Given the description of an element on the screen output the (x, y) to click on. 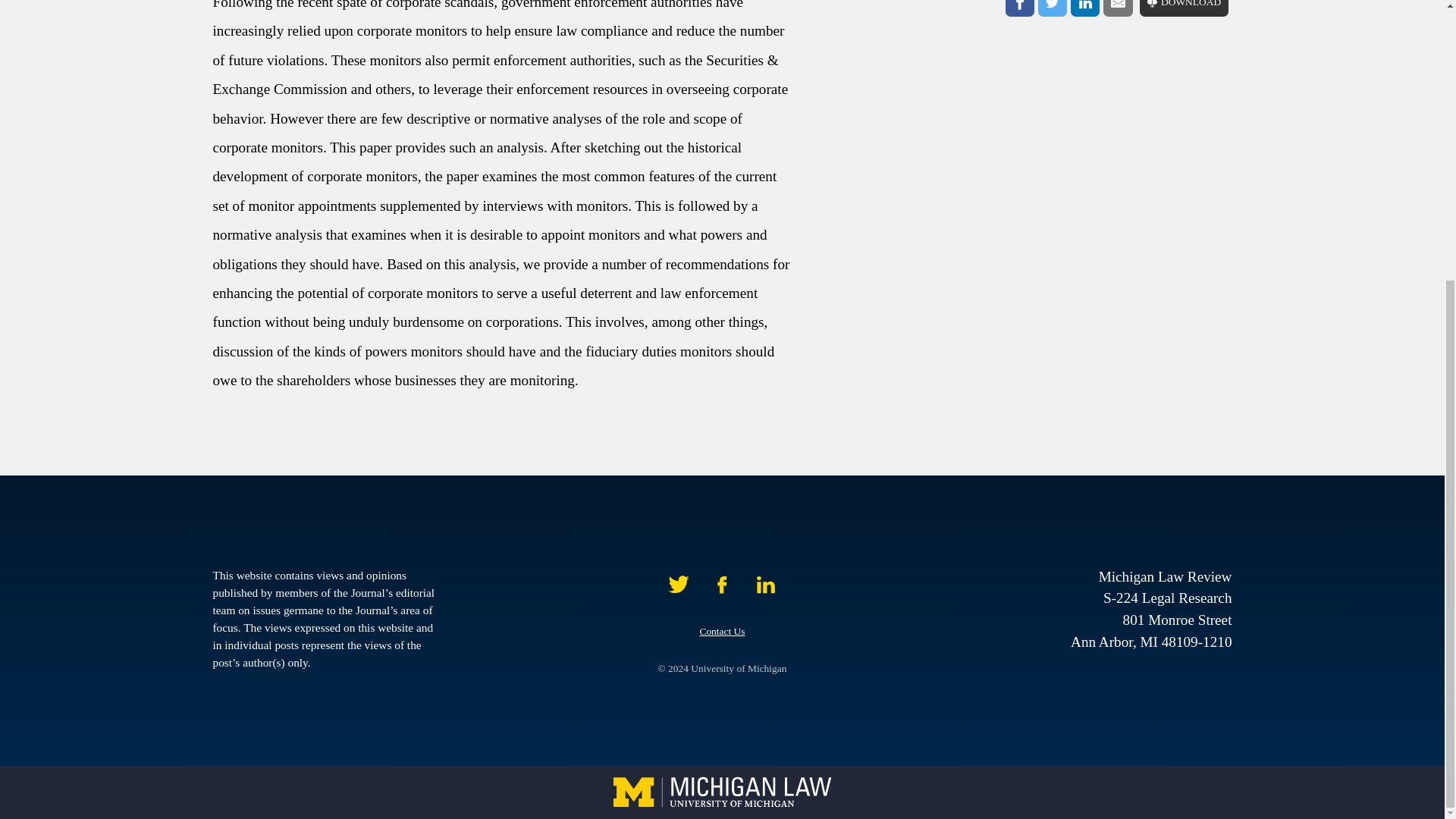
Twitter (1052, 8)
LinkedIn (1084, 8)
DOWNLOAD (1184, 8)
Facebook (1019, 8)
Contact Us (721, 631)
E-Mail (1117, 8)
